Given the description of an element on the screen output the (x, y) to click on. 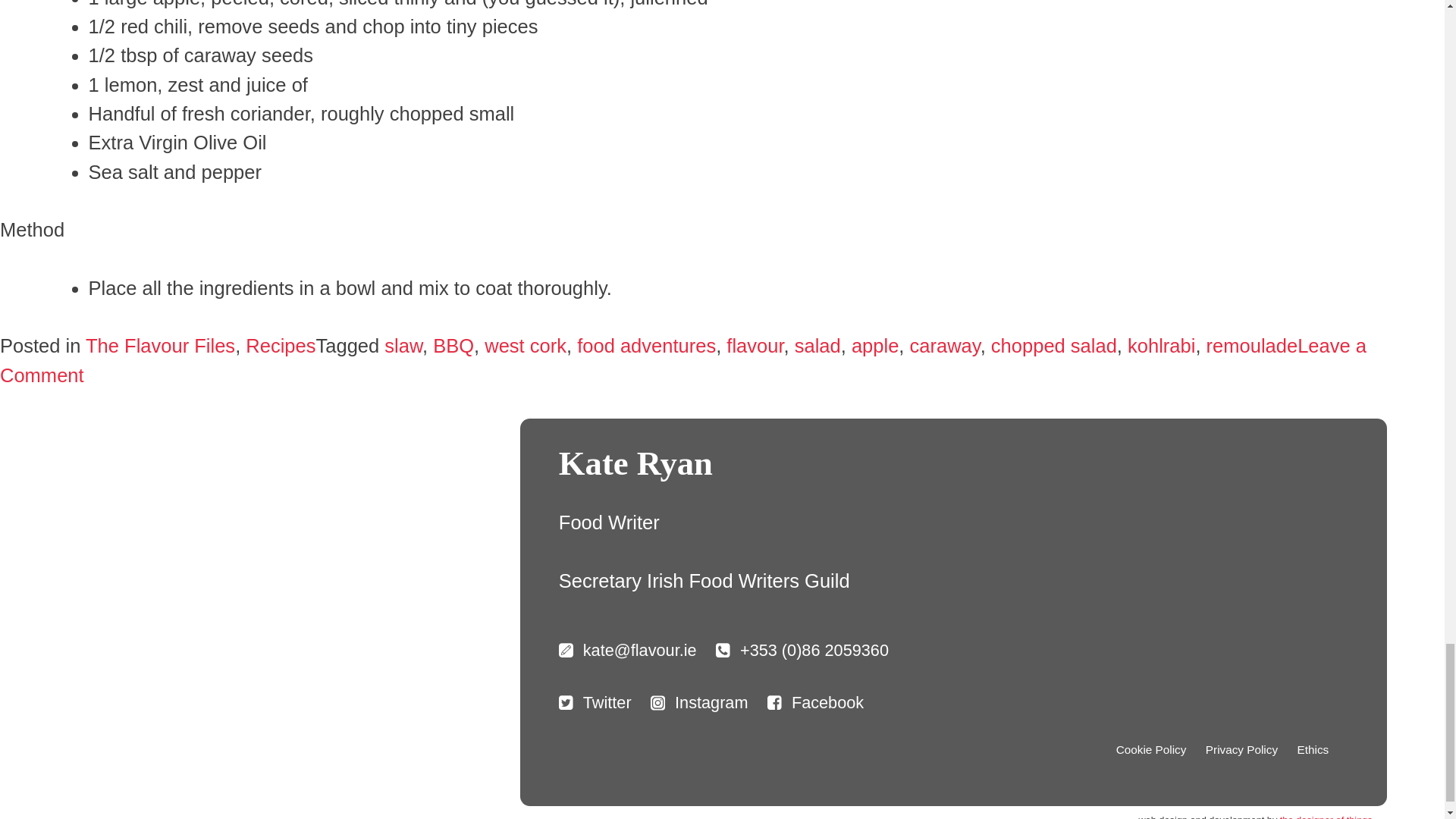
flavour (754, 345)
Instagram (699, 702)
The Flavour Files (159, 345)
food adventures (646, 345)
caraway (944, 345)
Facebook (815, 702)
kohlrabi (1160, 345)
slaw (403, 345)
Twitter (595, 702)
chopped salad (1053, 345)
